Given the description of an element on the screen output the (x, y) to click on. 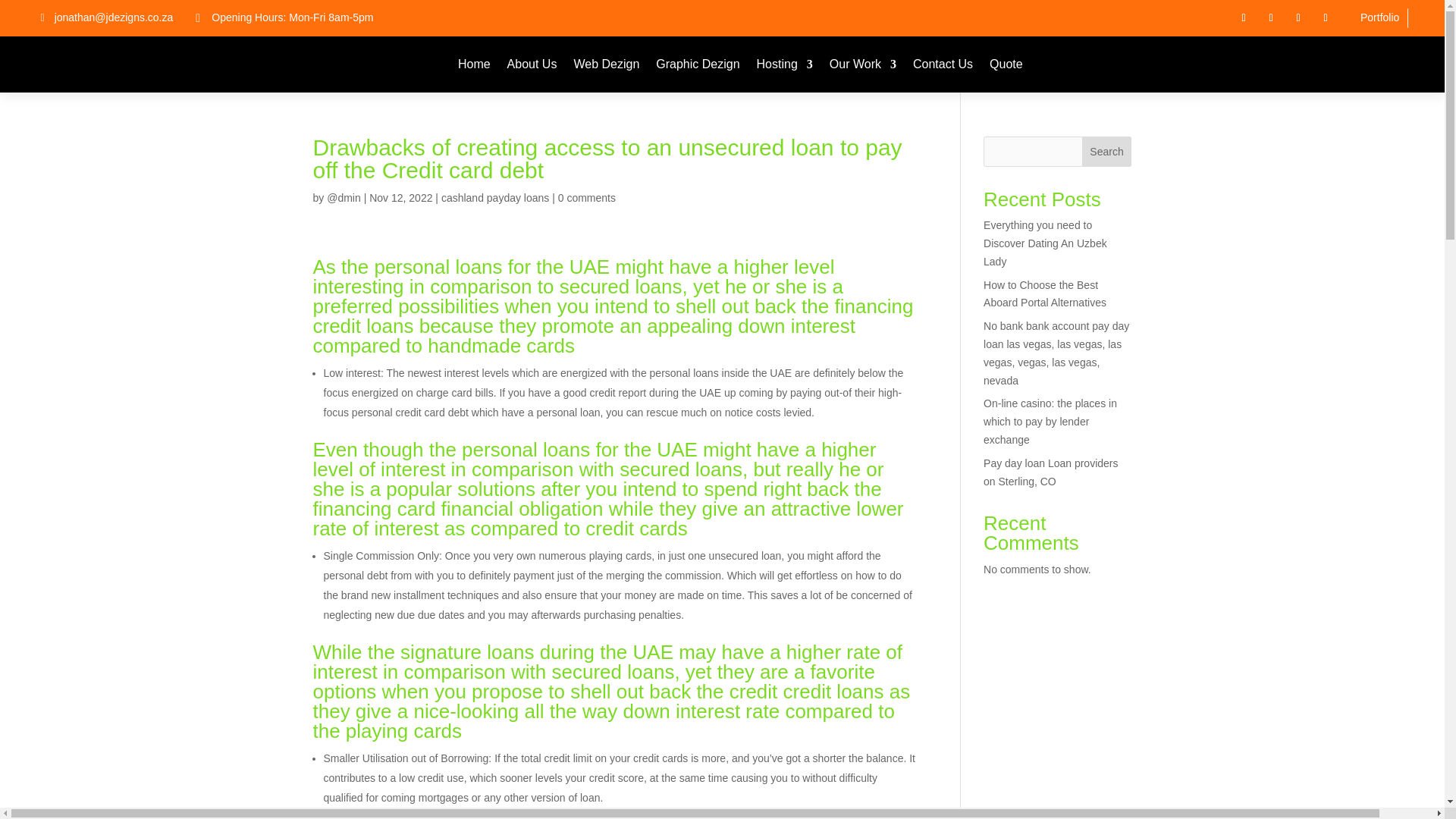
Follow on LinkedIn (1297, 17)
How to Choose the Best Aboard Portal Alternatives (1045, 294)
Follow on X (1270, 17)
Contact Us (942, 64)
Hosting (784, 64)
Search (1106, 151)
Our Work (862, 64)
Web Dezign (606, 64)
Portfolio (1379, 17)
Graphic Dezign (697, 64)
